Given the description of an element on the screen output the (x, y) to click on. 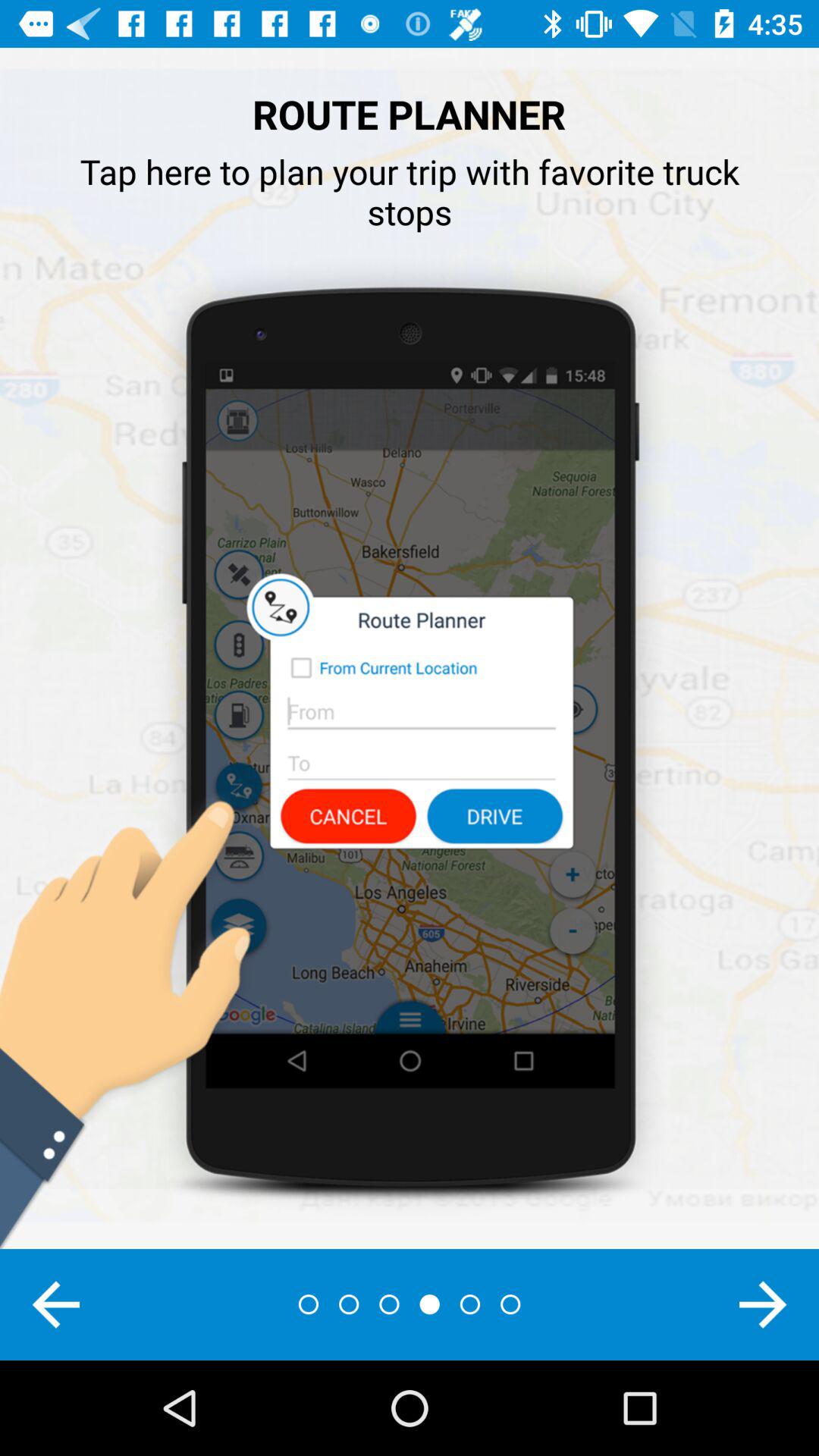
select right menu (763, 1304)
